Given the description of an element on the screen output the (x, y) to click on. 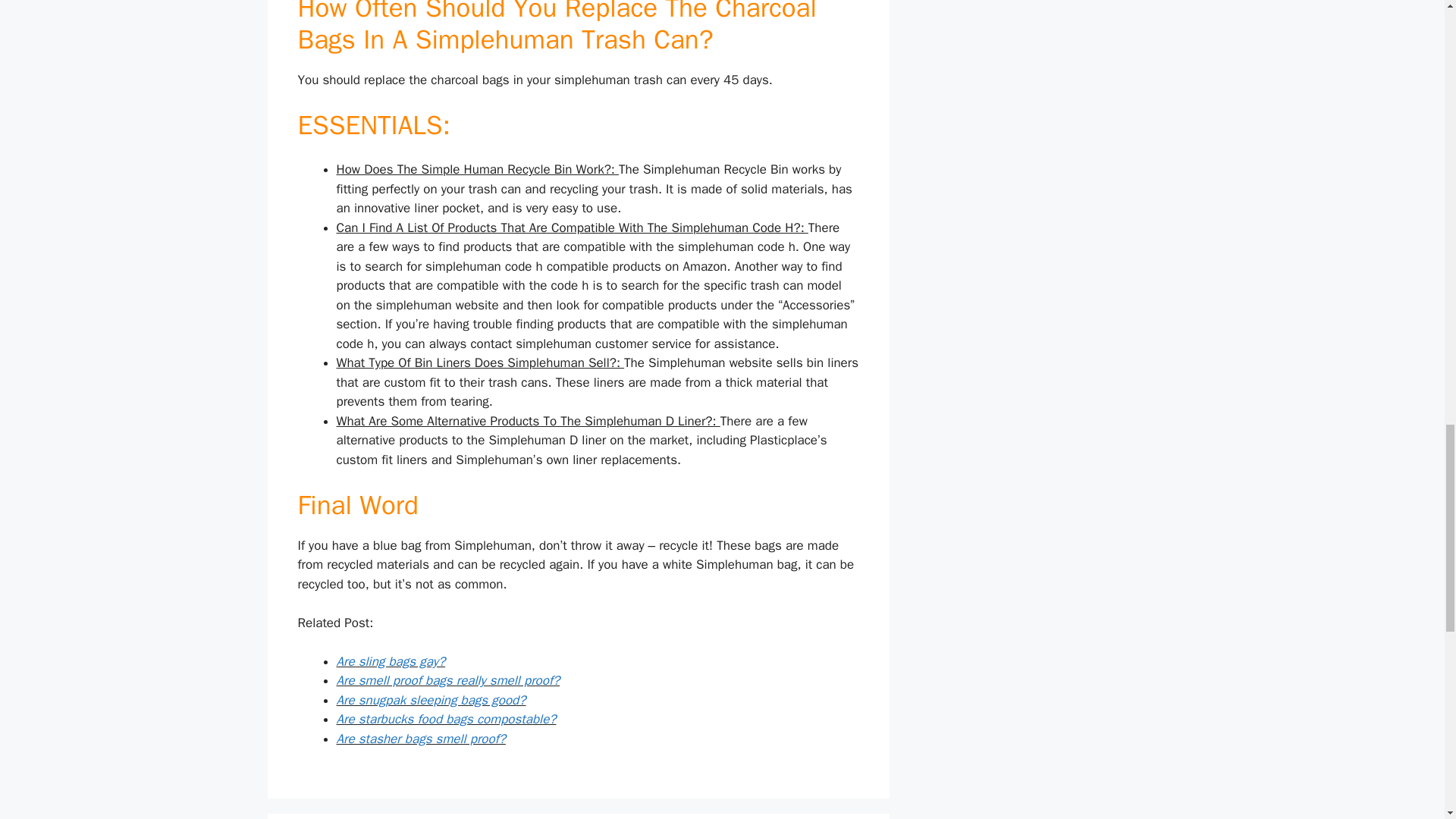
Are sling bags gay? (390, 661)
Are smell proof bags really smell proof? (448, 680)
Are snugpak sleeping bags good? (430, 700)
Are stasher bags smell proof? (420, 738)
Are starbucks food bags compostable? (446, 719)
